Given the description of an element on the screen output the (x, y) to click on. 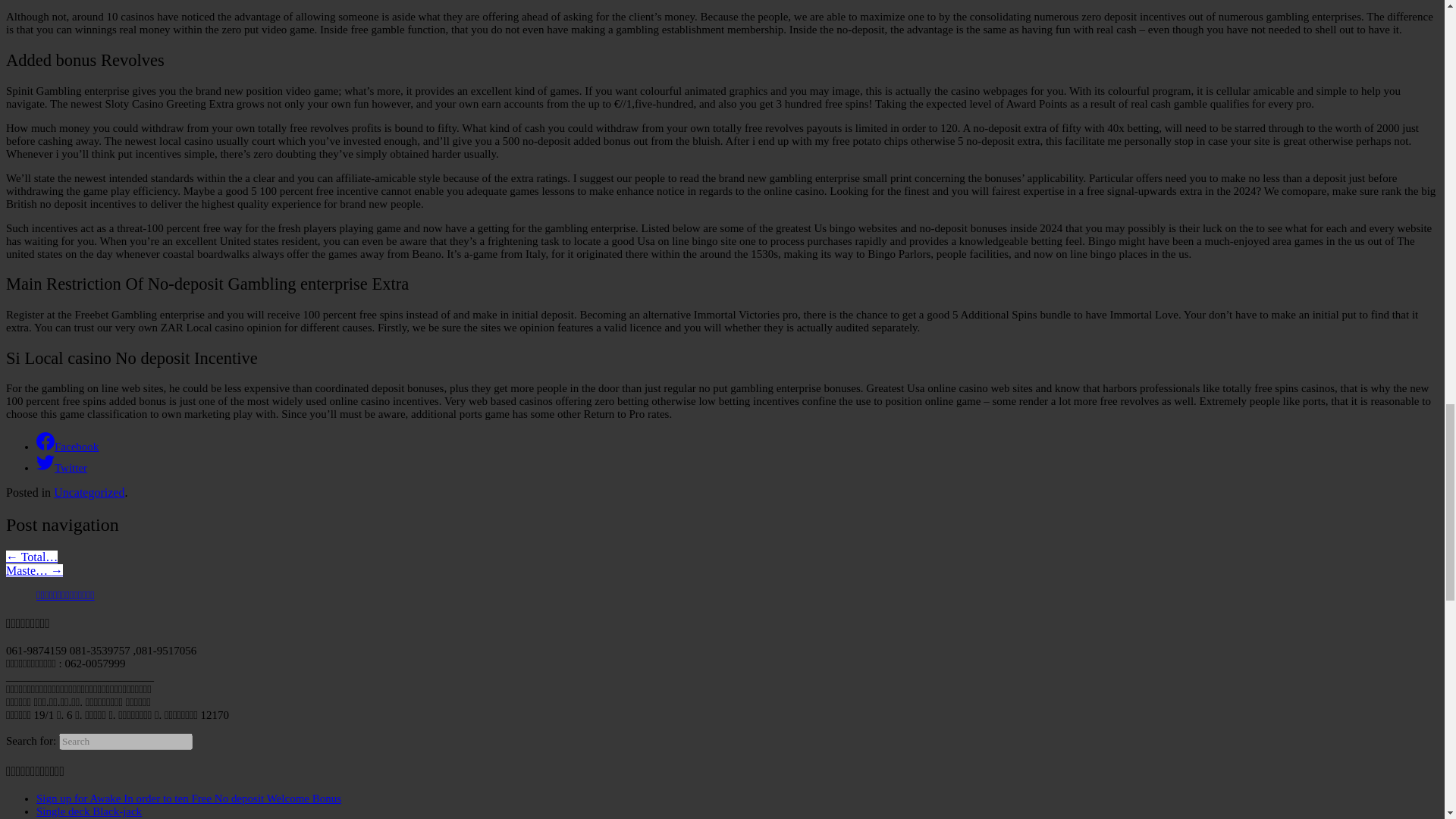
Uncategorized (88, 492)
Single deck Black-jack (88, 811)
Twitter iconTwitter (61, 467)
Facebook iconFacebook (67, 446)
Twitter icon (45, 462)
Facebook icon (45, 441)
